Given the description of an element on the screen output the (x, y) to click on. 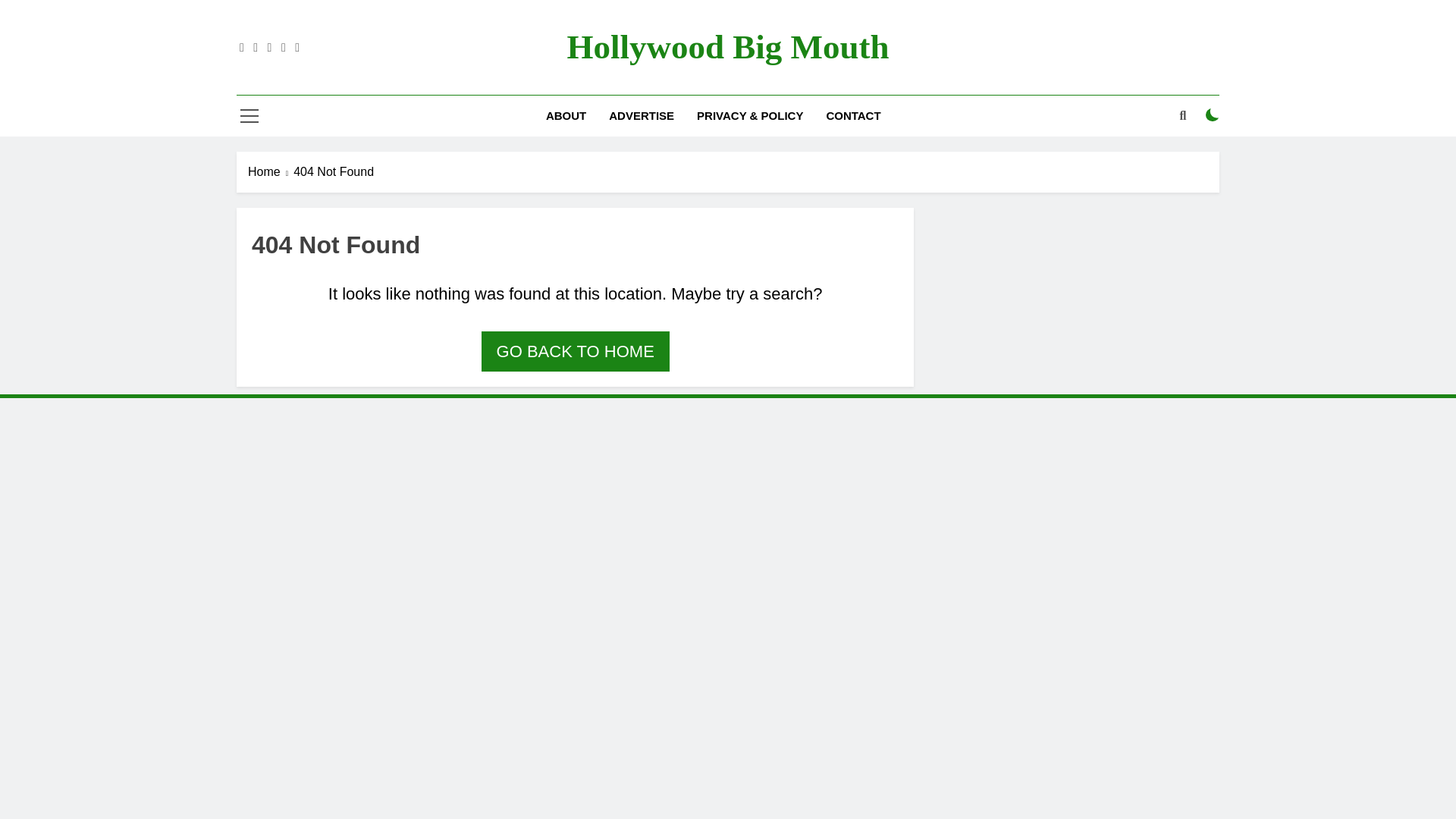
ADVERTISE (640, 115)
Home (270, 171)
on (1212, 115)
Hollywood Big Mouth (727, 46)
GO BACK TO HOME (575, 351)
CONTACT (852, 115)
ABOUT (565, 115)
